Given the description of an element on the screen output the (x, y) to click on. 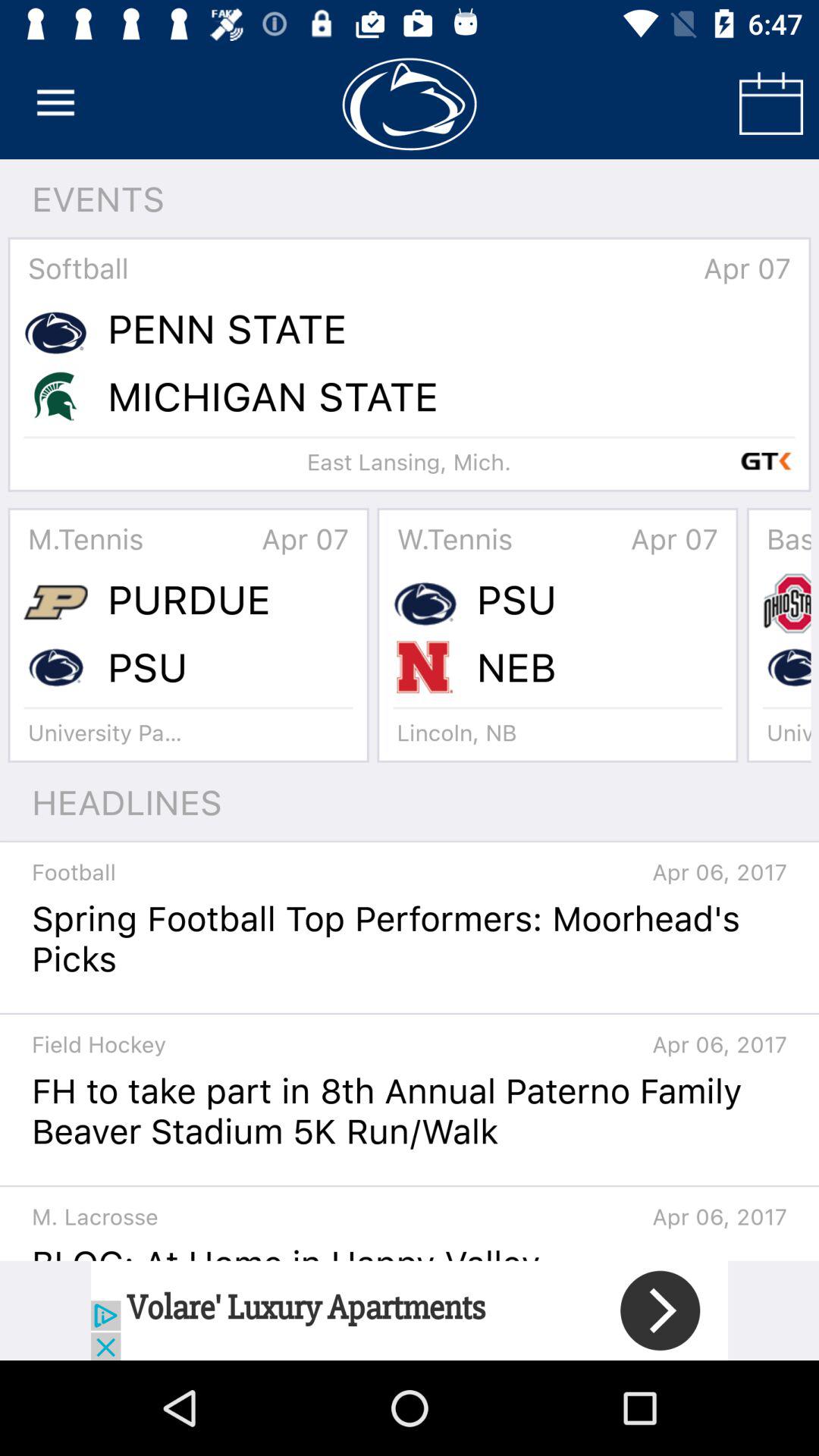
open main menu (55, 103)
